Given the description of an element on the screen output the (x, y) to click on. 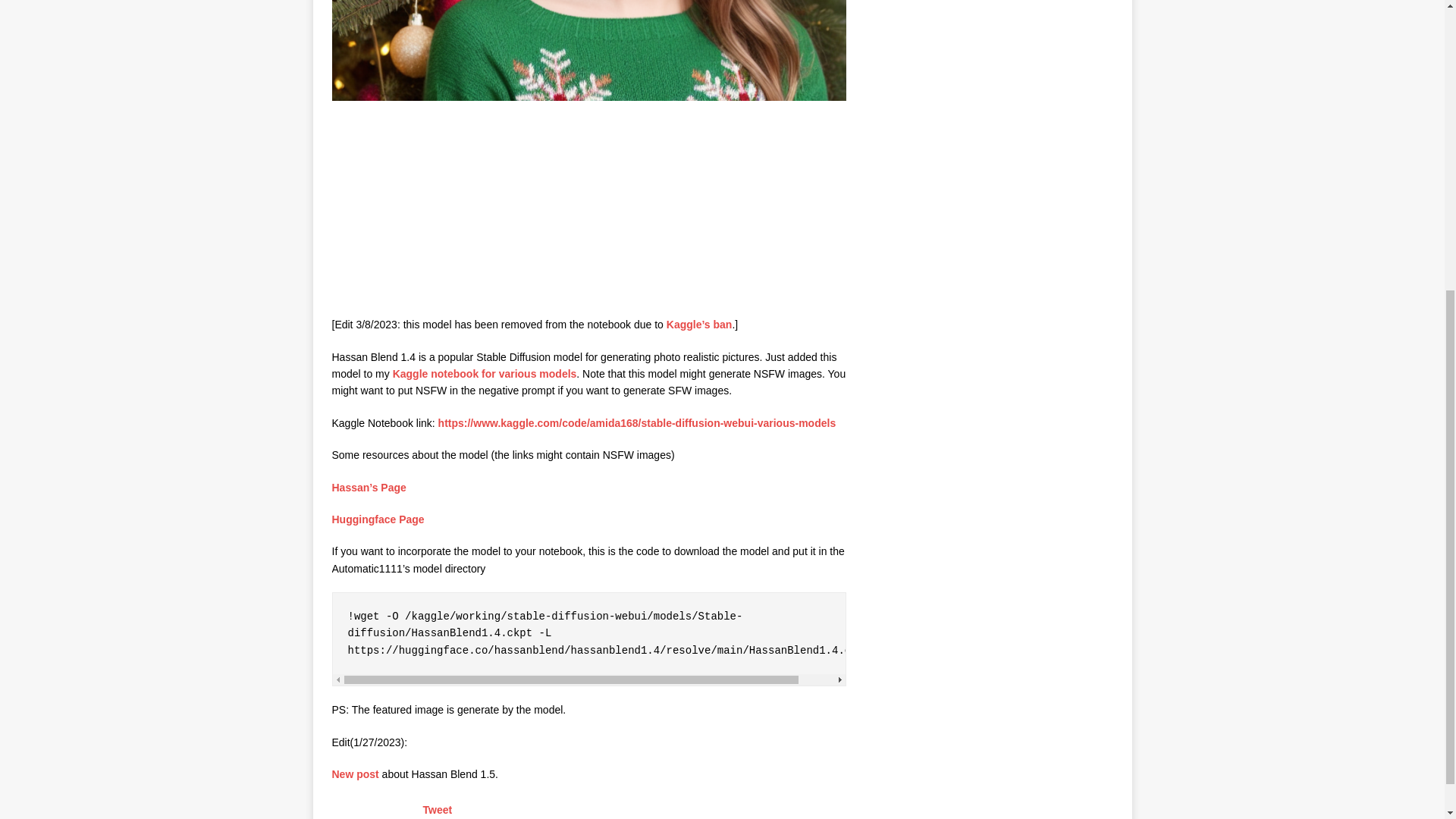
Tweet (437, 809)
hassan blend (588, 50)
Advertisement (445, 210)
New post (354, 774)
Kaggle notebook for various models (484, 373)
Huggingface Page (378, 519)
